Given the description of an element on the screen output the (x, y) to click on. 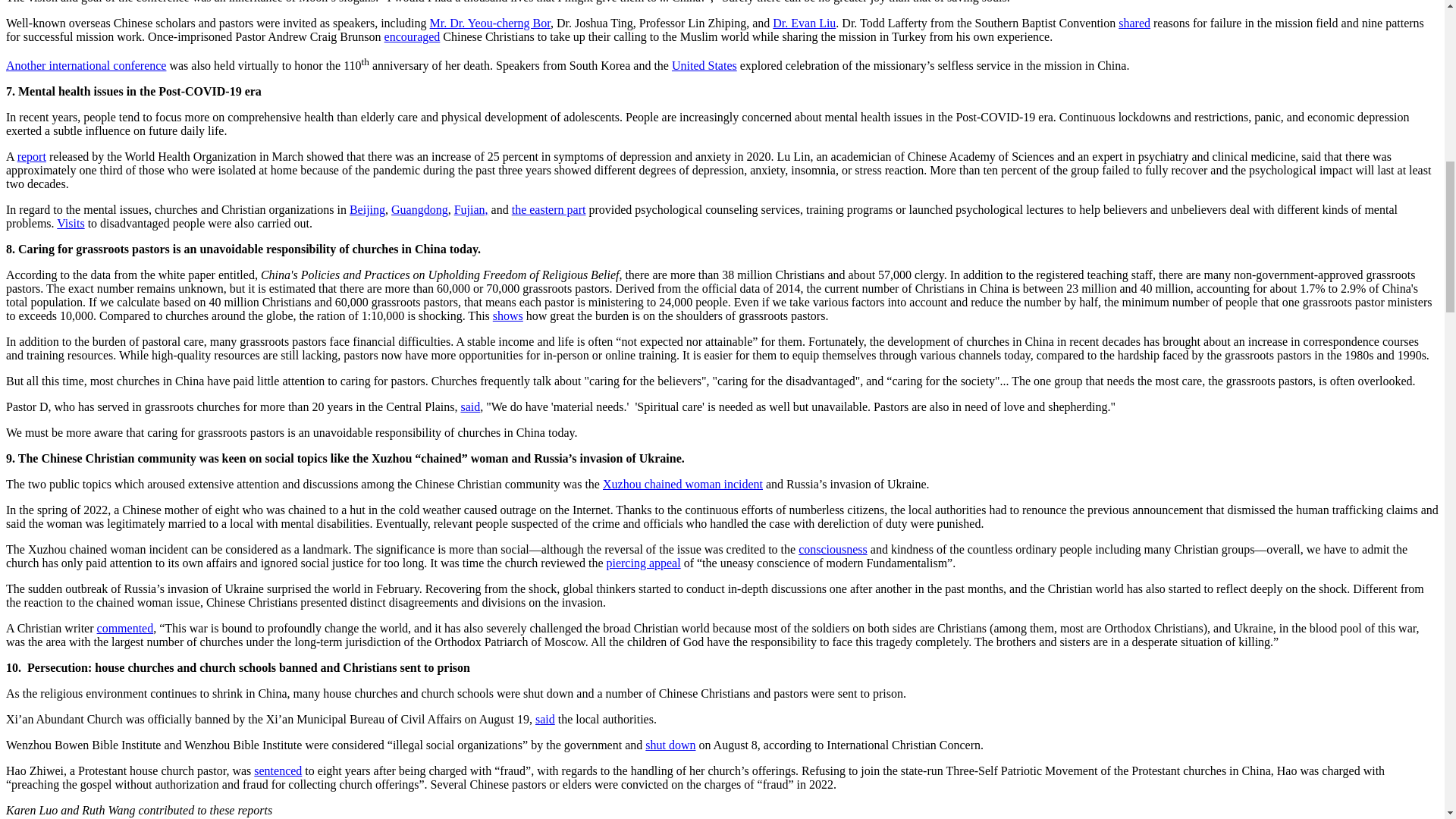
the eastern part (549, 209)
shows (507, 315)
shut down (670, 744)
report (31, 155)
encouraged (412, 36)
Mr. Dr. Yeou-cherng Bor (489, 22)
sentenced (277, 770)
Visits (70, 223)
Dr. Evan Liu (804, 22)
Fujian, (470, 209)
commented (125, 627)
said (470, 406)
Another international conference (85, 65)
consciousness (832, 549)
Xuzhou chained woman incident (682, 483)
